Given the description of an element on the screen output the (x, y) to click on. 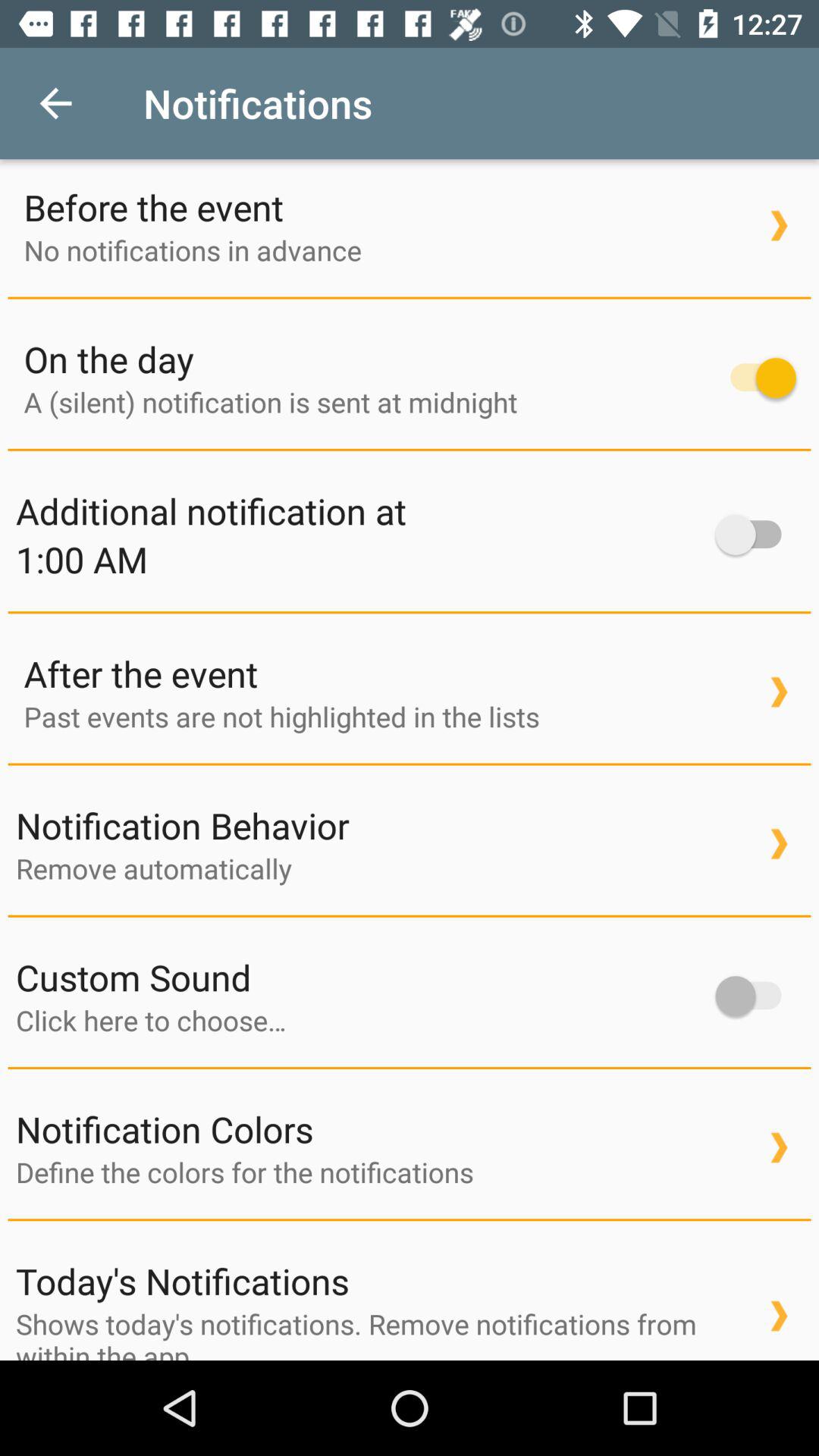
toggle additional notifications (755, 534)
